Given the description of an element on the screen output the (x, y) to click on. 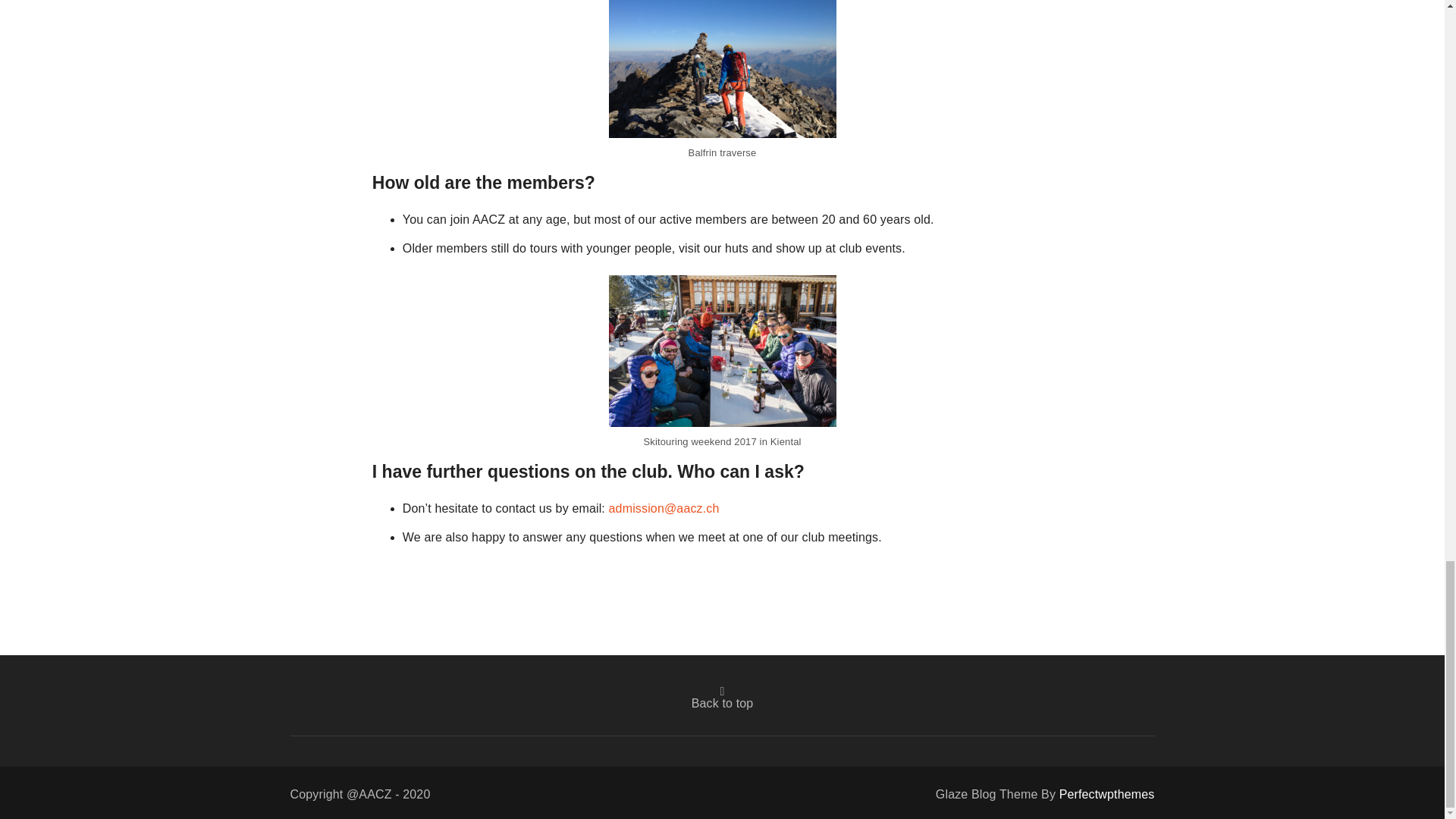
Perfectwpthemes (1106, 793)
Back to top (722, 697)
